Given the description of an element on the screen output the (x, y) to click on. 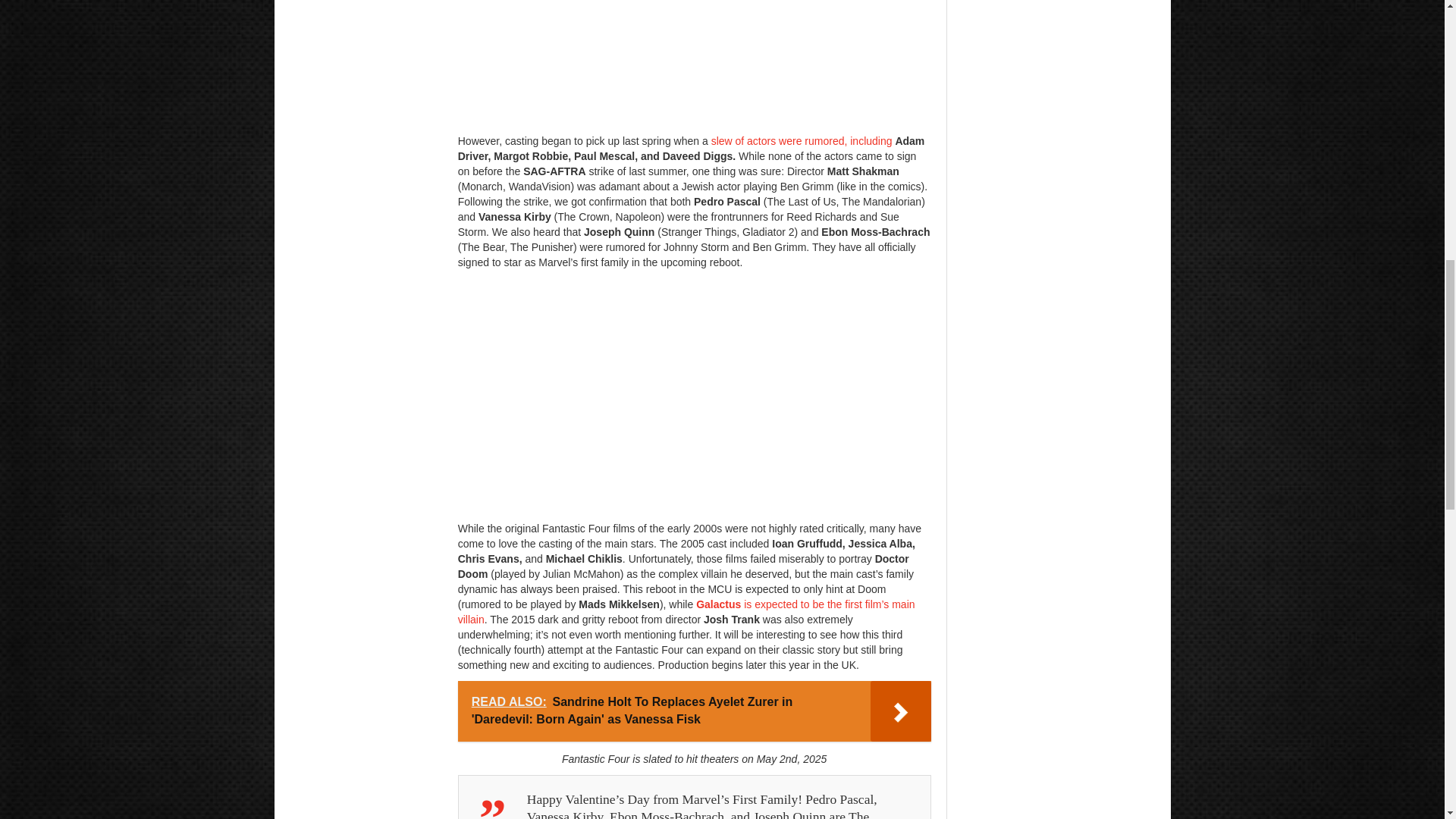
comics fantastic four banner (694, 63)
